Given the description of an element on the screen output the (x, y) to click on. 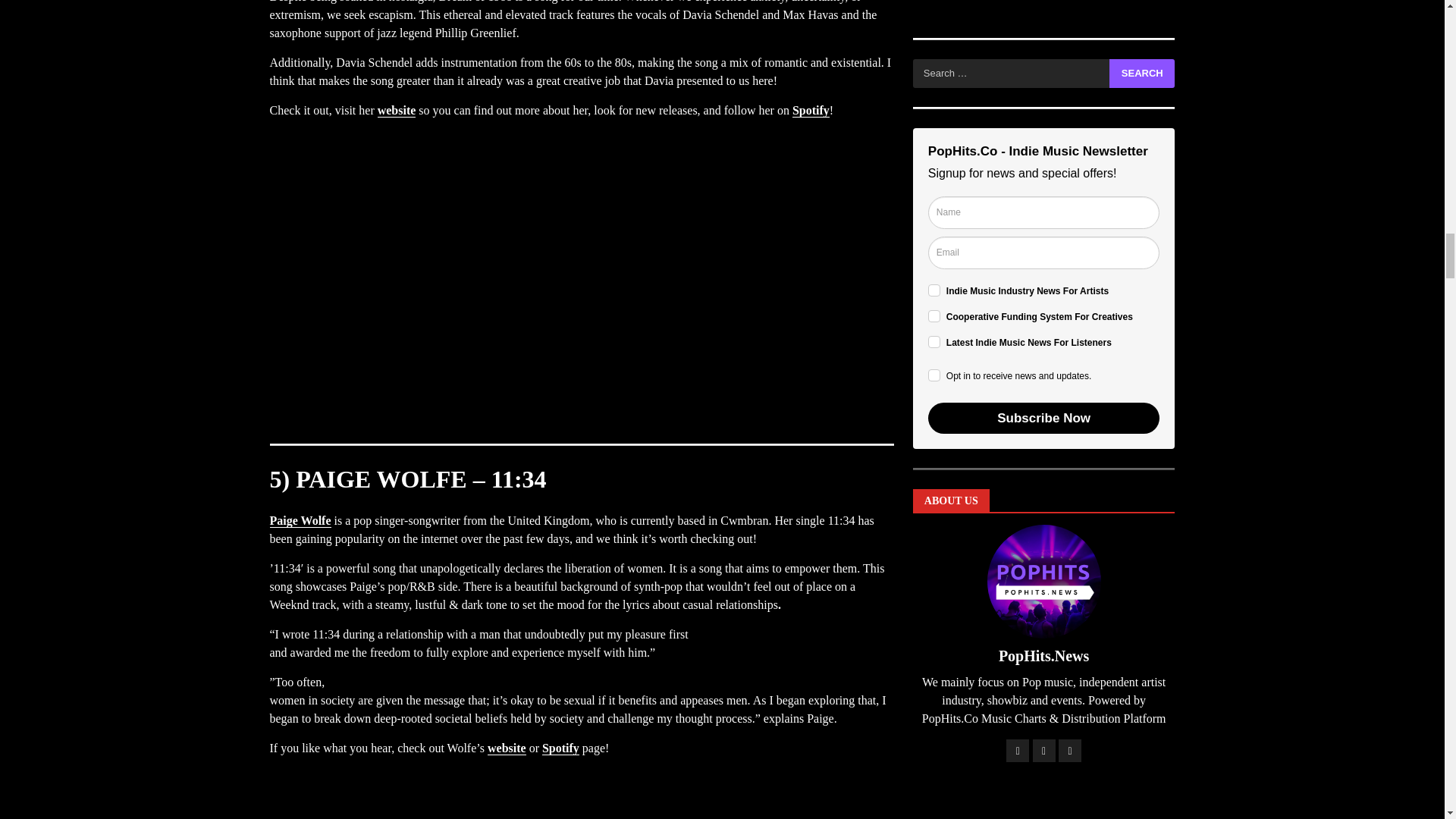
Spotify Embed: 11:34 (581, 809)
